Given the description of an element on the screen output the (x, y) to click on. 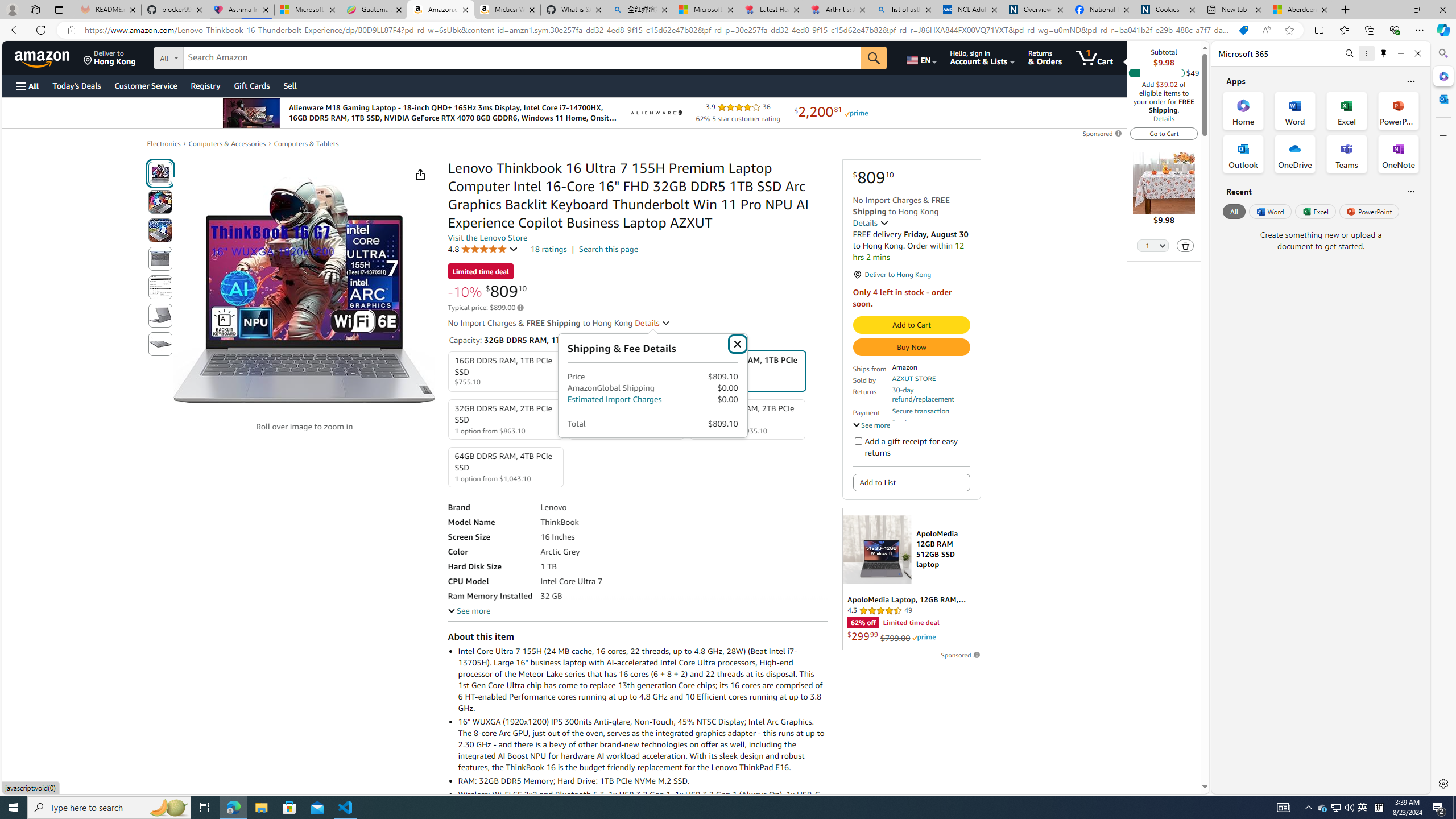
64GB DDR5 RAM, 2TB PCIe SSD 1 option from $935.10 (747, 418)
Learn more about Amazon pricing and savings (520, 307)
16GB DDR5 RAM, 1TB PCIe SSD $755.10 (505, 371)
Word (1269, 210)
Registry (205, 85)
Go to Cart (1163, 133)
